Given the description of an element on the screen output the (x, y) to click on. 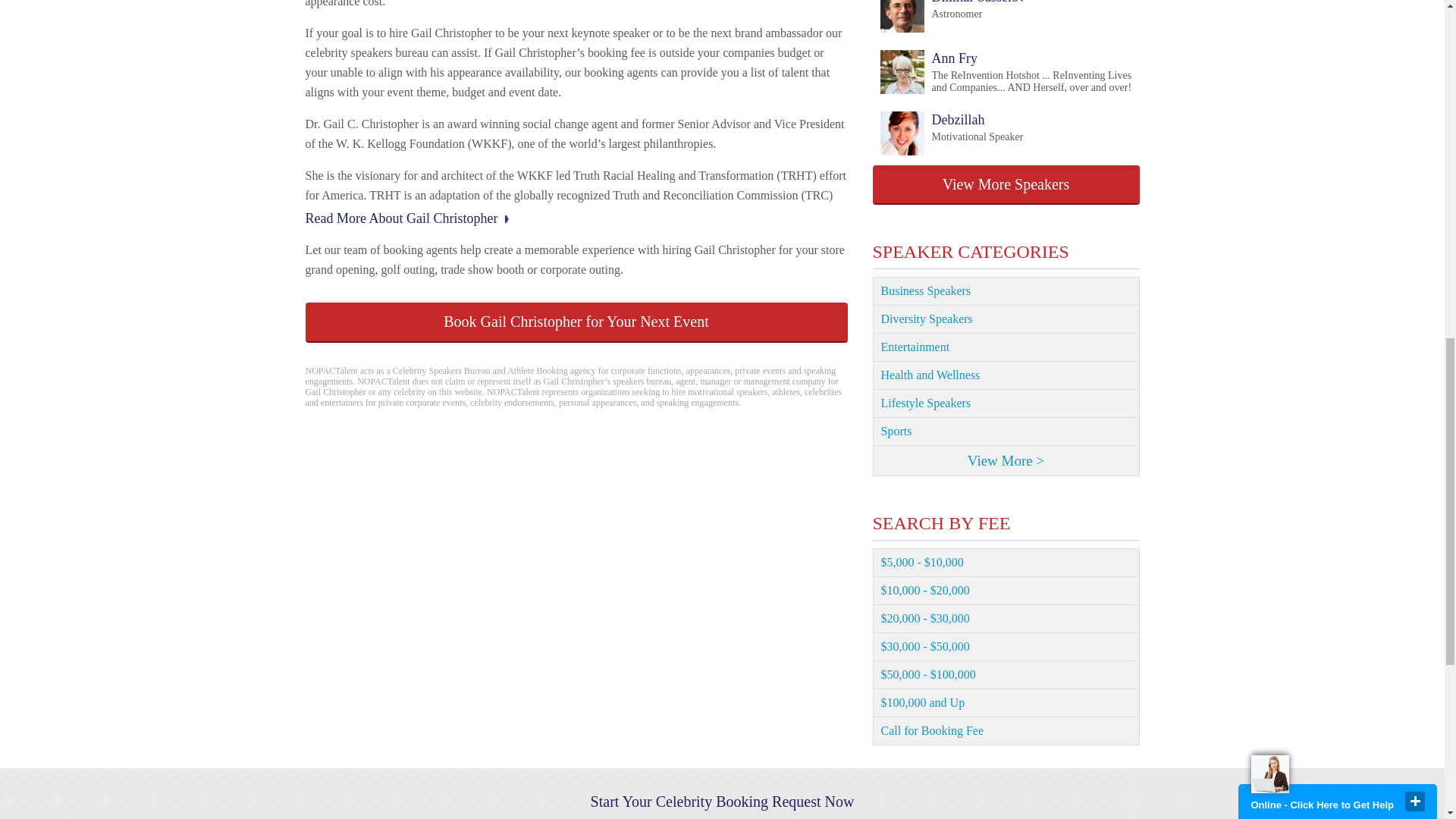
Sports (1005, 431)
Lifestyle Speakers (1005, 403)
Book Gail Christopher for Your Next Event (952, 17)
Business Speakers (575, 322)
Entertainment (1005, 290)
Health and Wellness (1005, 347)
View More Speakers (1005, 375)
